Given the description of an element on the screen output the (x, y) to click on. 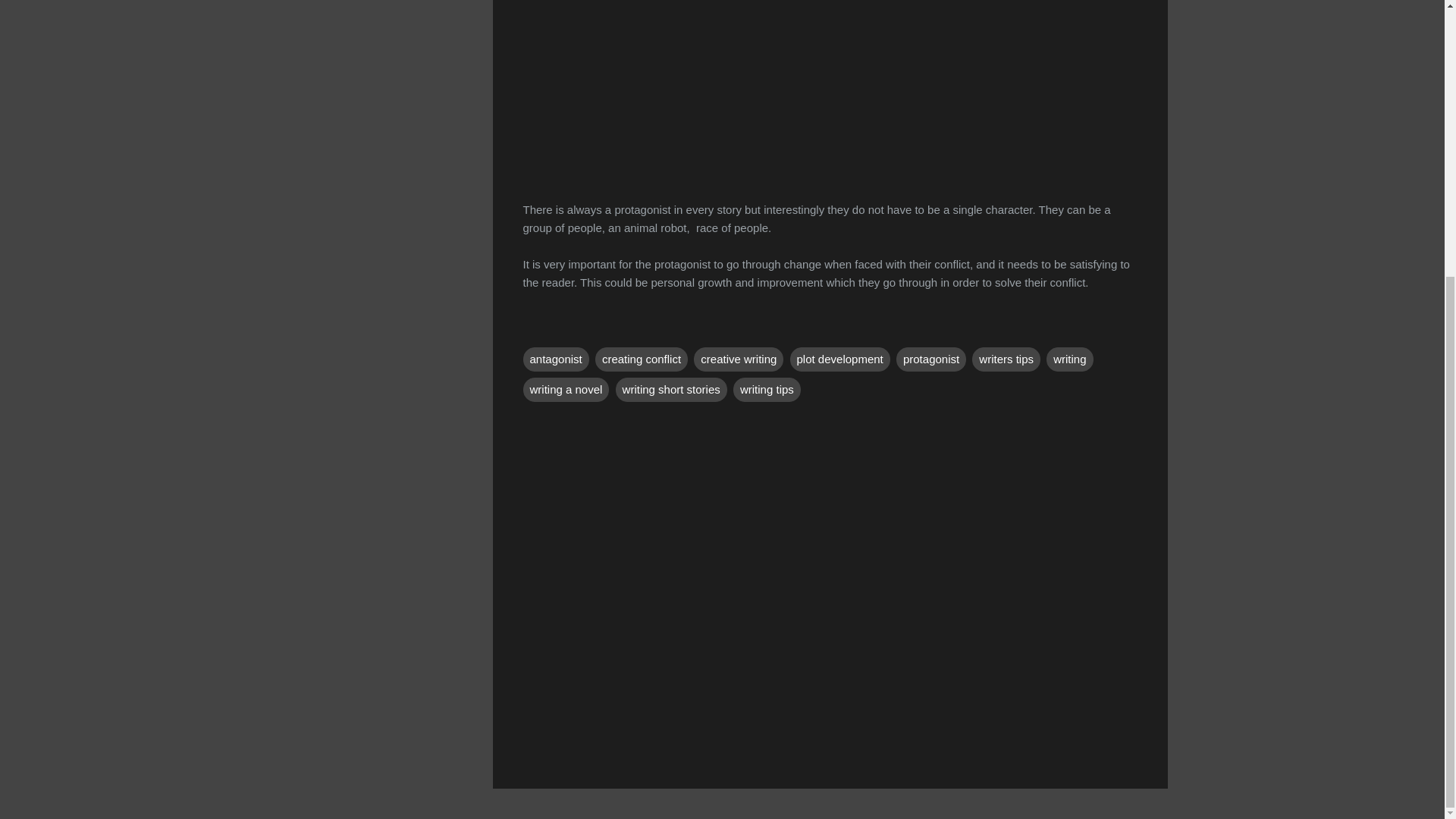
antagonist (555, 359)
protagonist (931, 359)
creating conflict (641, 359)
writing a novel (566, 389)
writing short stories (670, 389)
writing (1069, 359)
creative writing (738, 359)
writing tips (766, 389)
writers tips (1006, 359)
plot development (839, 359)
